Given the description of an element on the screen output the (x, y) to click on. 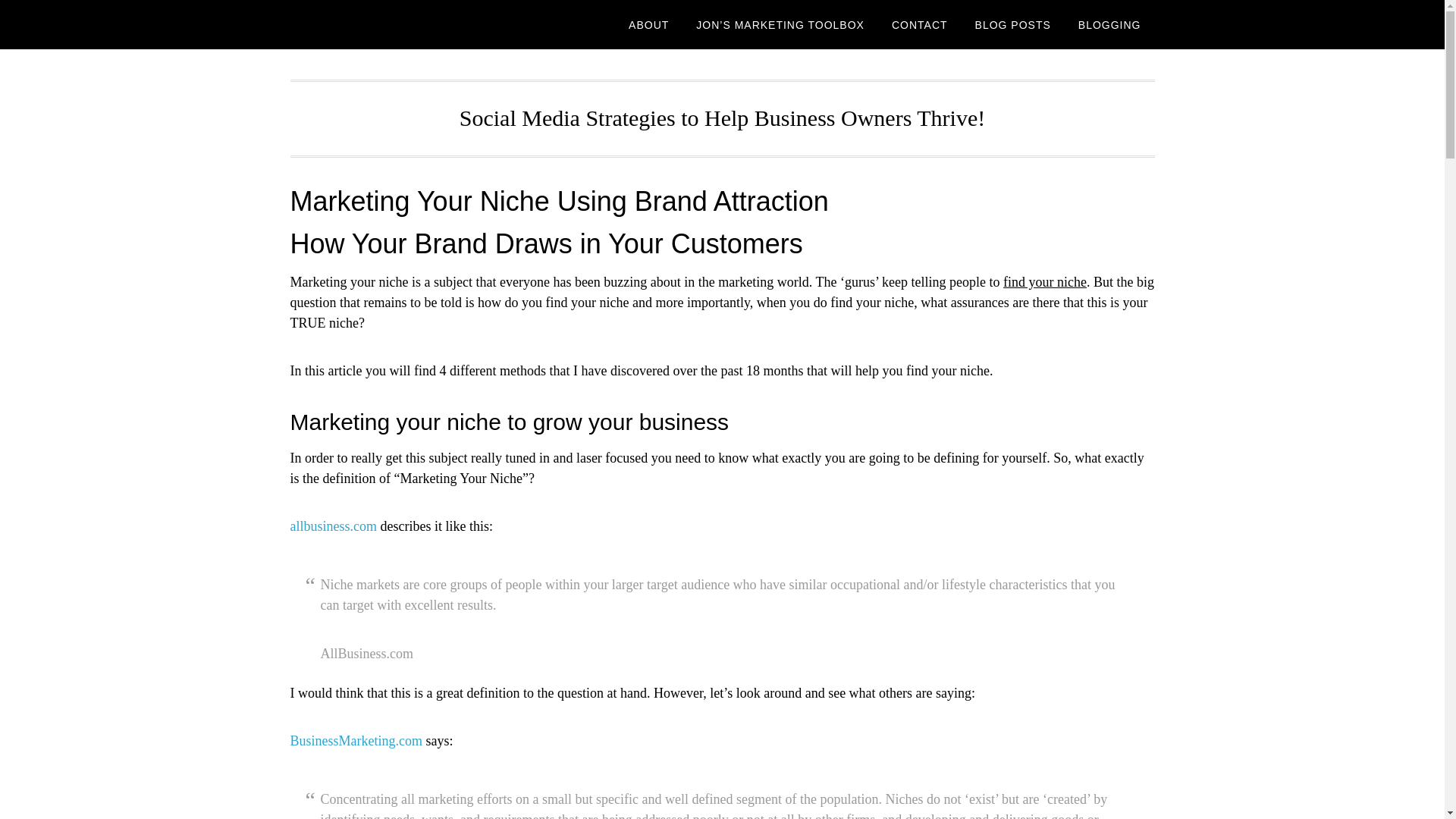
BLOG POSTS (1012, 24)
allbusiness.com (333, 525)
CONTACT (918, 24)
BLOGGING (1109, 24)
ABOUT (648, 24)
BusinessMarketing.com (355, 740)
